Given the description of an element on the screen output the (x, y) to click on. 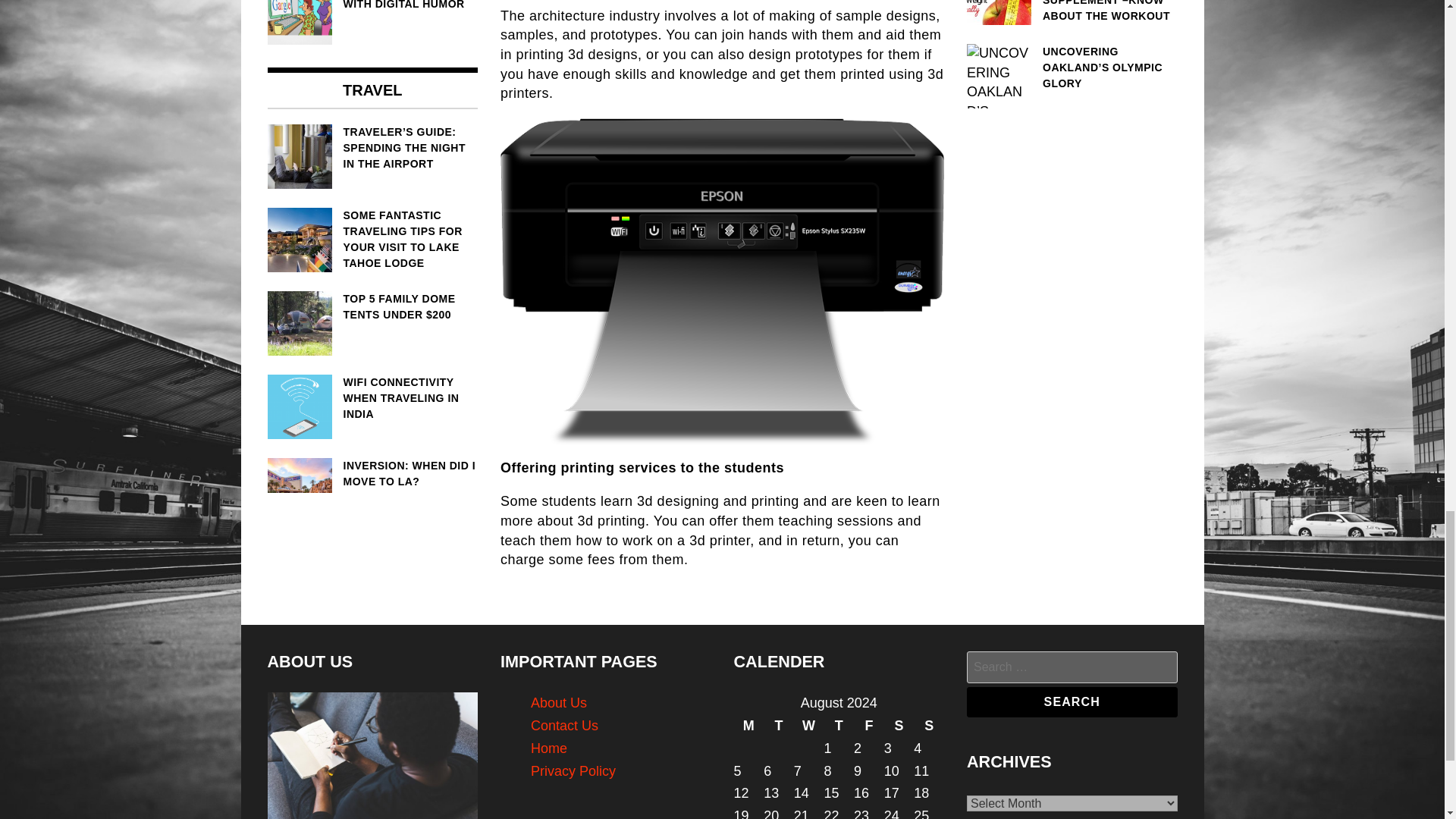
Wednesday (808, 725)
WIFI CONNECTIVITY WHEN TRAVELING IN INDIA (371, 398)
Tuesday (777, 725)
Search (1071, 702)
Saturday (898, 725)
Thursday (838, 725)
Sunday (928, 725)
INVERSION: WHEN DID I MOVE TO LA? (371, 473)
Friday (868, 725)
Search (1071, 702)
Monday (748, 725)
